Given the description of an element on the screen output the (x, y) to click on. 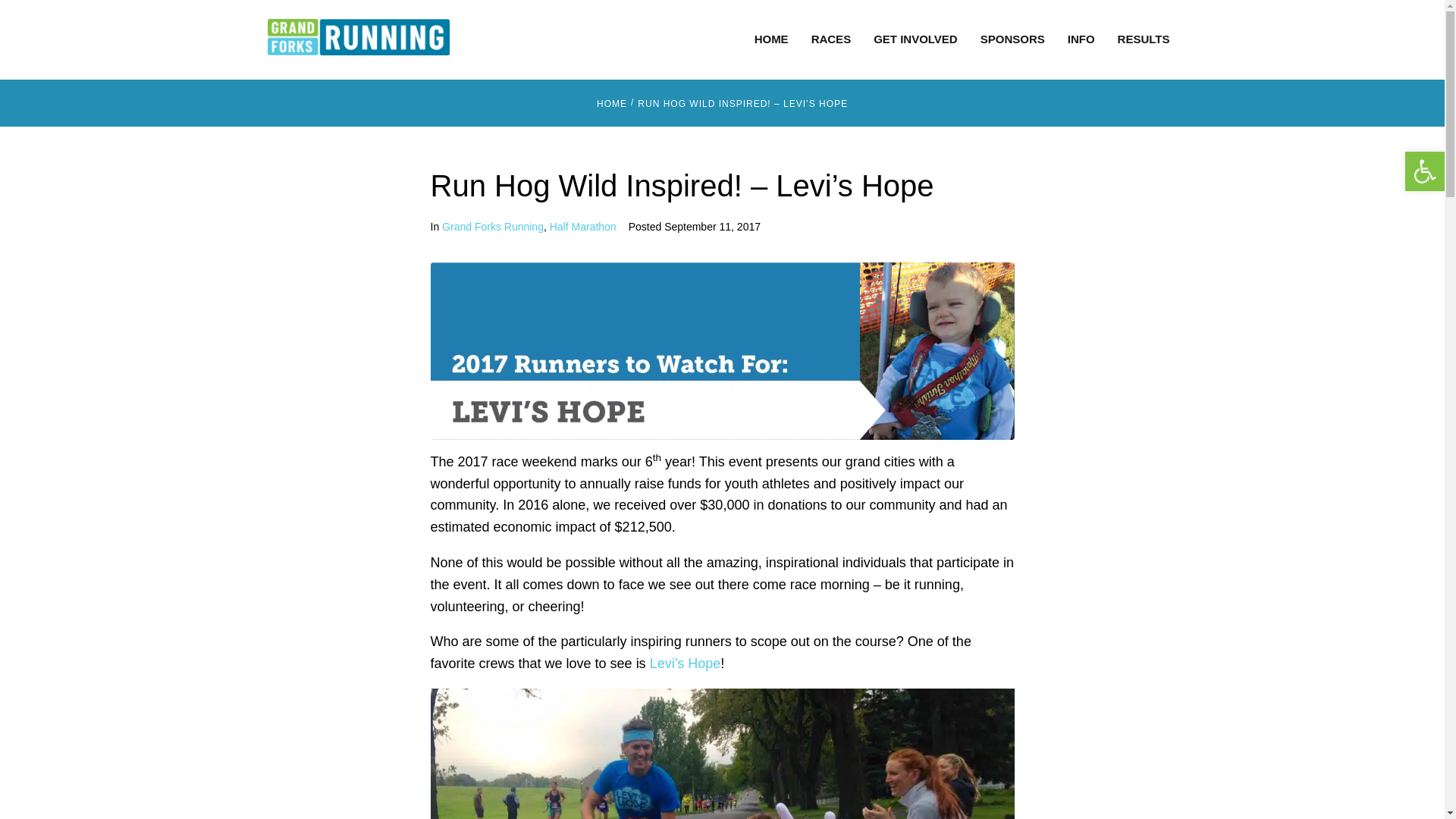
HOME (611, 104)
Grand Forks Running (492, 226)
RESULTS (1144, 39)
Home (611, 104)
Half Marathon (582, 226)
RACES (830, 39)
Accessibility Tools (1424, 170)
SPONSORS (1012, 39)
INFO (1080, 39)
GET INVOLVED (915, 39)
HOME (771, 39)
